Given the description of an element on the screen output the (x, y) to click on. 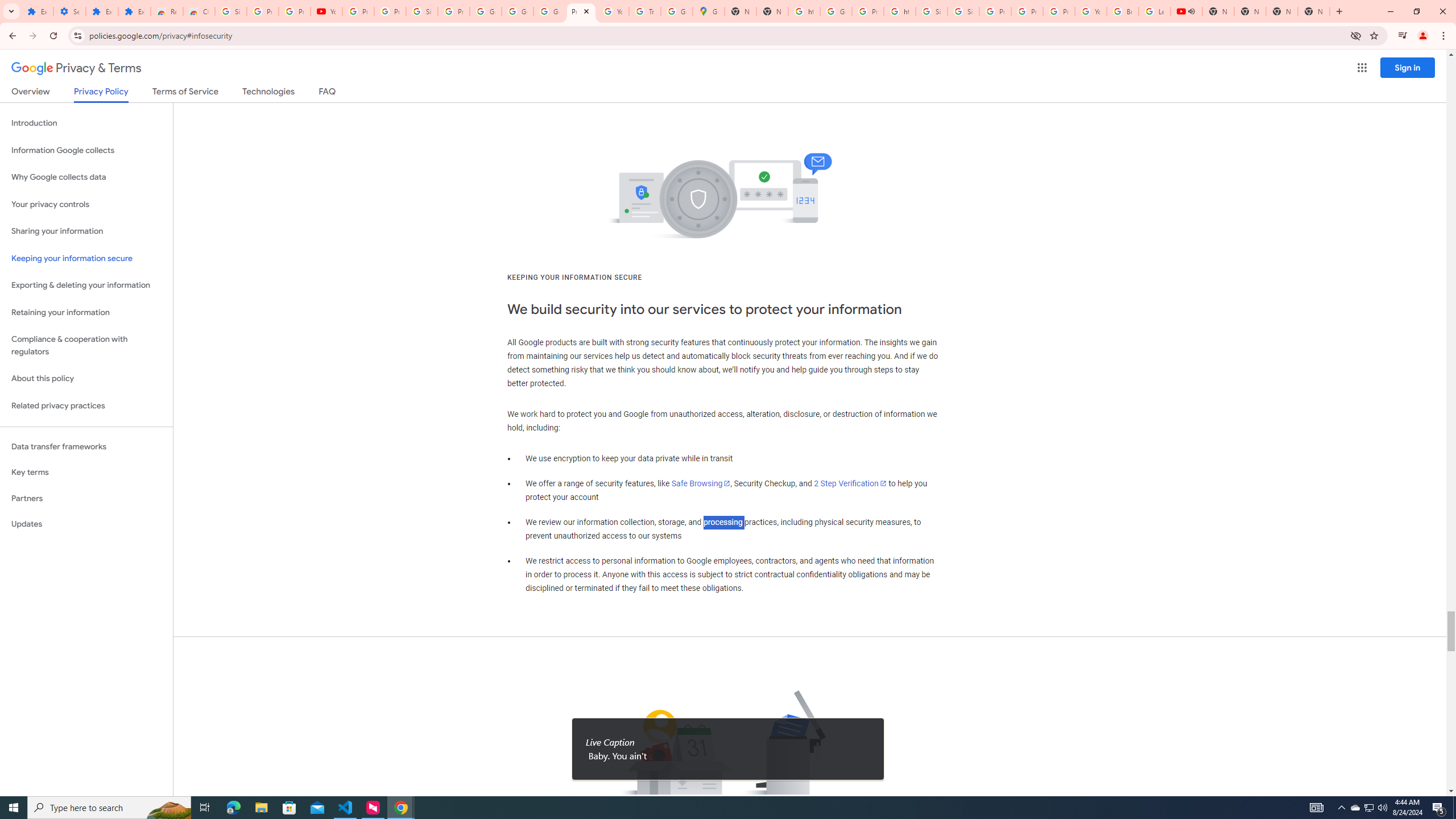
Reviews: Helix Fruit Jump Arcade Game (166, 11)
Overview (30, 93)
New Tab (1313, 11)
https://scholar.google.com/ (899, 11)
YouTube (326, 11)
Keeping your information secure (86, 258)
Google Maps (708, 11)
FAQ (327, 93)
2 Step Verification (849, 483)
Why Google collects data (86, 176)
